Given the description of an element on the screen output the (x, y) to click on. 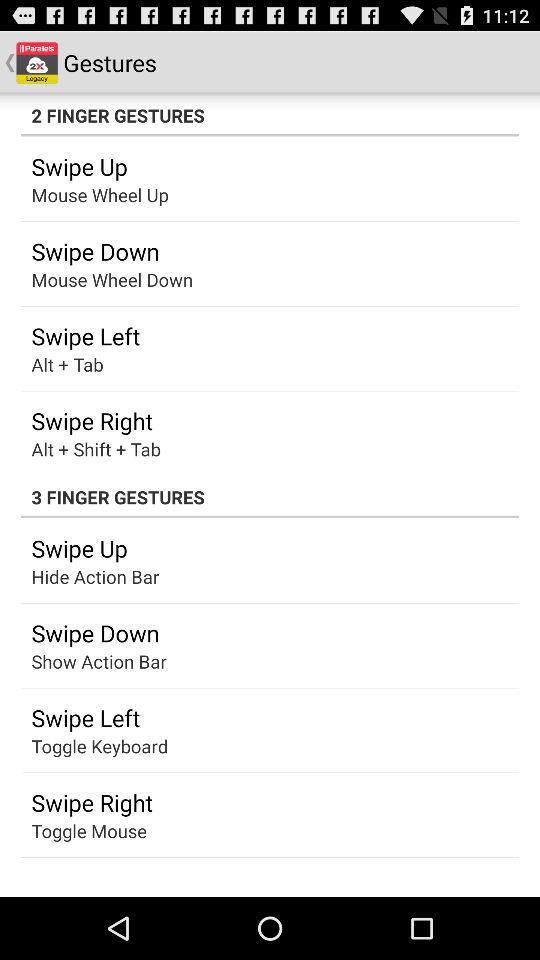
choose the icon below the swipe down item (80, 661)
